Given the description of an element on the screen output the (x, y) to click on. 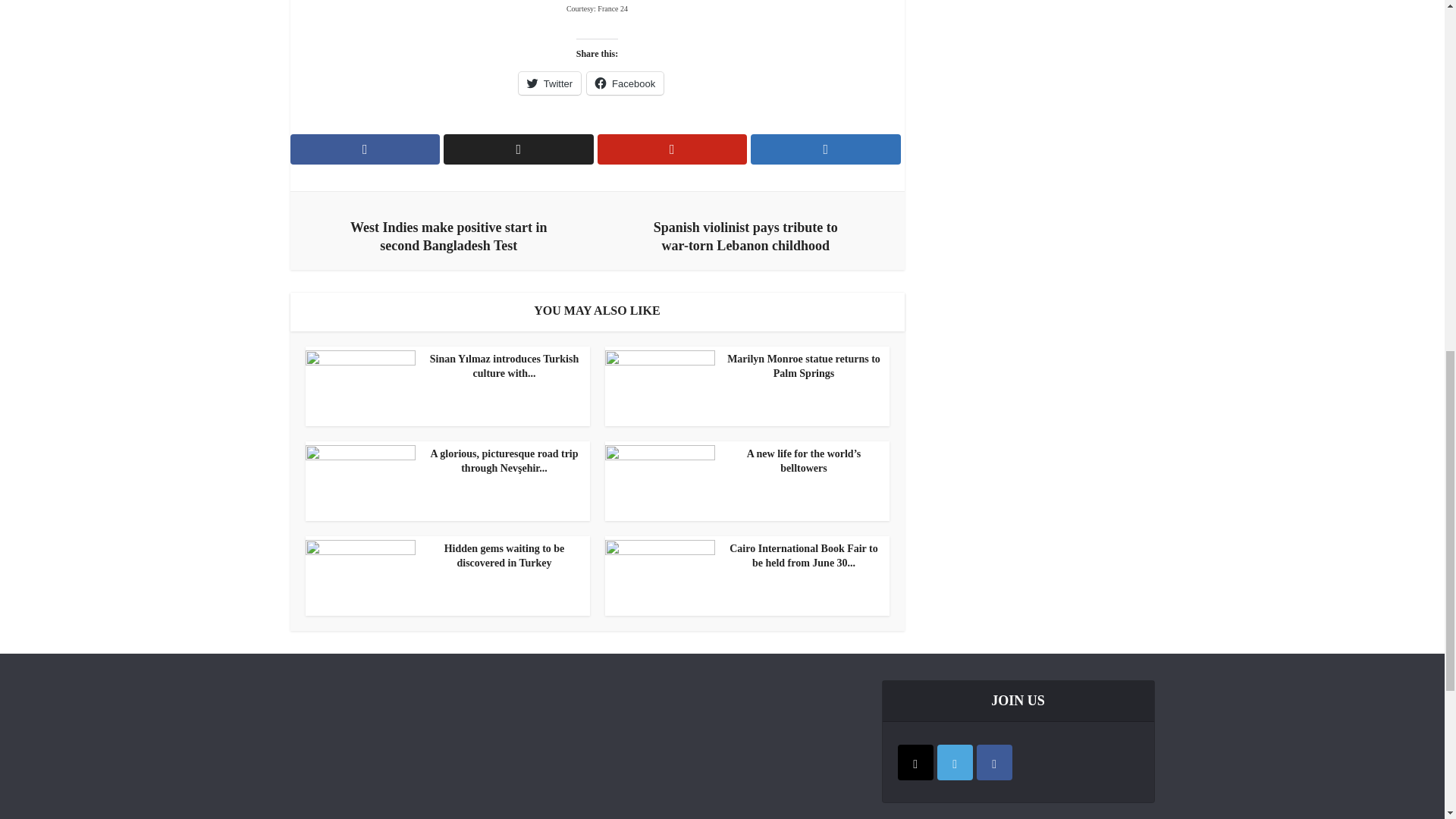
West Indies make positive start in second Bangladesh Test (449, 232)
Hidden gems waiting to be discovered in Turkey (442, 556)
Twitter (549, 83)
Click to share on Twitter (549, 83)
Marilyn Monroe statue returns to Palm Springs (743, 366)
Spanish violinist pays tribute to war-torn Lebanon childhood (745, 232)
Click to share on Facebook (624, 83)
Facebook (624, 83)
Marilyn Monroe statue returns to Palm Springs (743, 366)
